Given the description of an element on the screen output the (x, y) to click on. 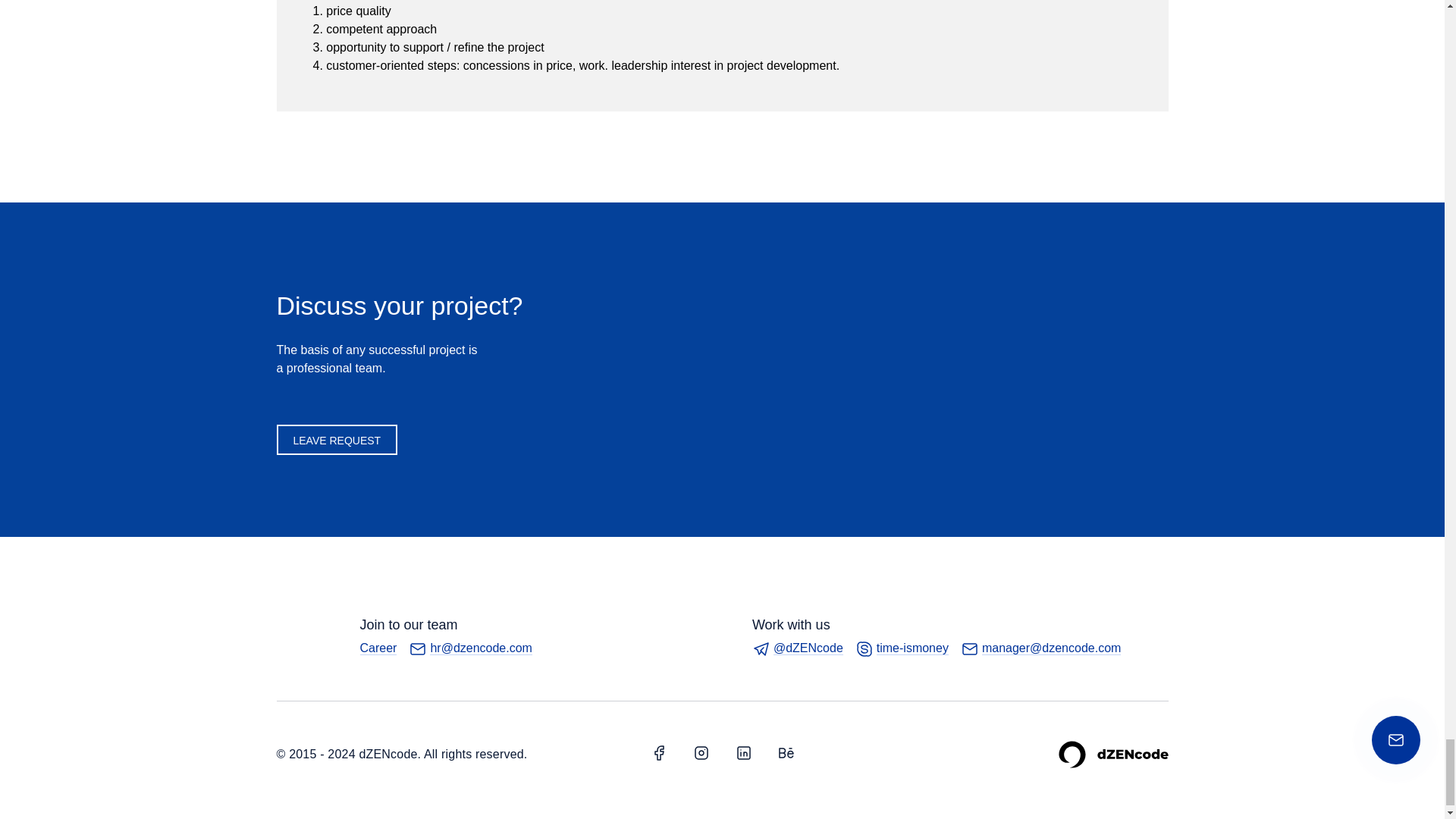
LEAVE REQUEST (336, 440)
time-ismoney (902, 648)
Career (377, 648)
